Given the description of an element on the screen output the (x, y) to click on. 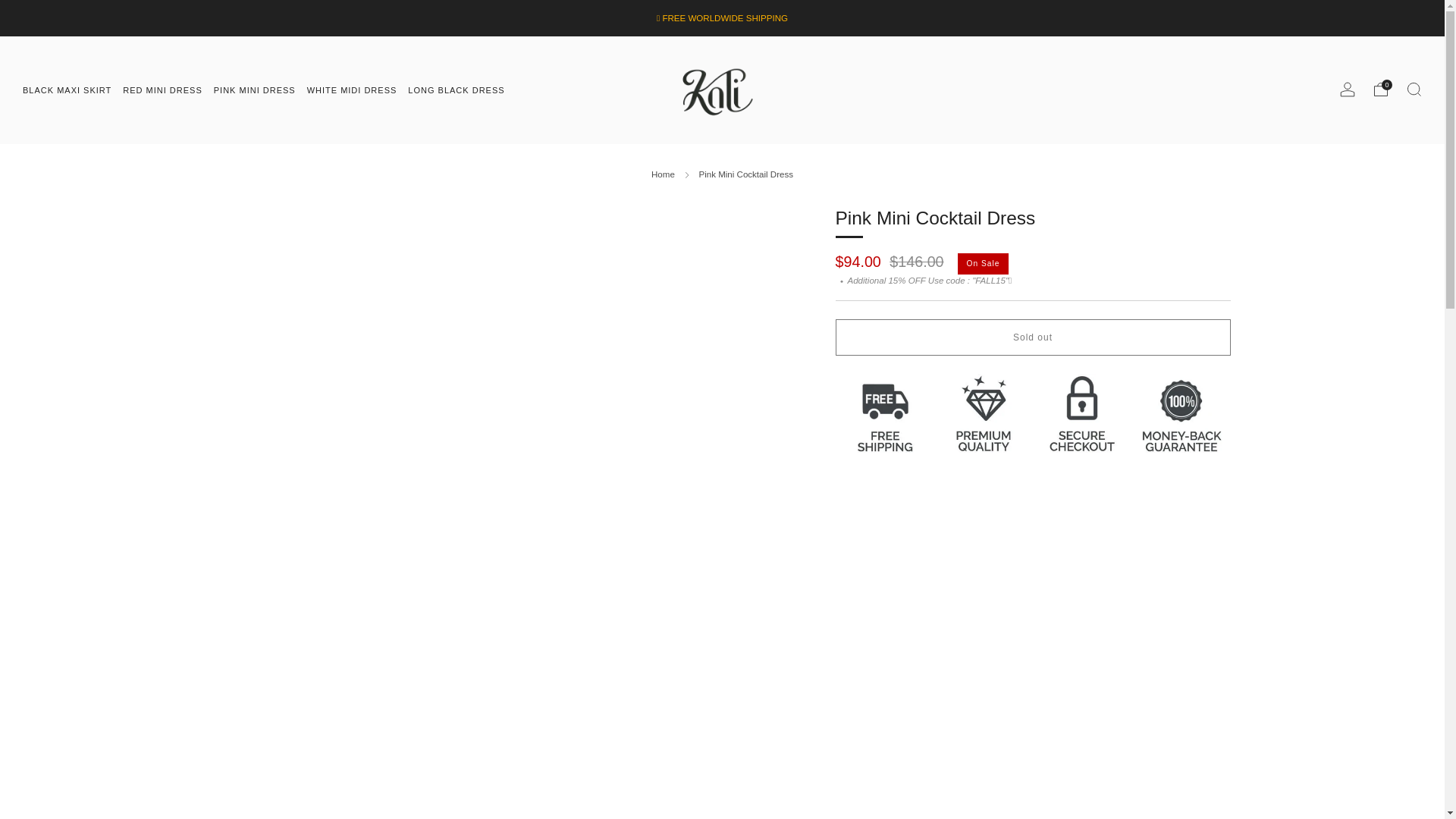
Home (662, 174)
BLACK MAXI SKIRT (67, 88)
LONG BLACK DRESS (455, 88)
Home (662, 174)
Sold out (1032, 337)
PINK MINI DRESS (254, 88)
0 (1381, 89)
RED MINI DRESS (162, 88)
WHITE MIDI DRESS (352, 88)
